Given the description of an element on the screen output the (x, y) to click on. 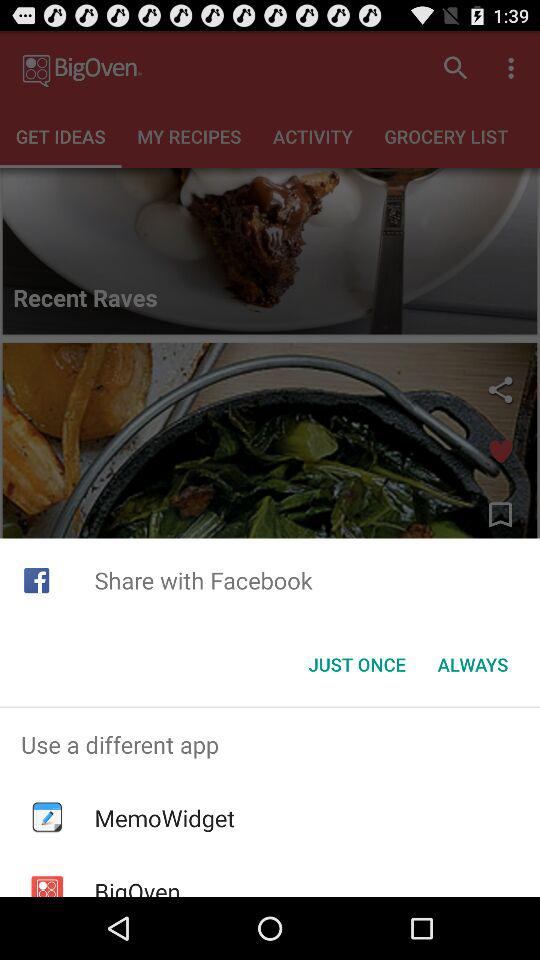
turn off the memowidget (164, 817)
